Given the description of an element on the screen output the (x, y) to click on. 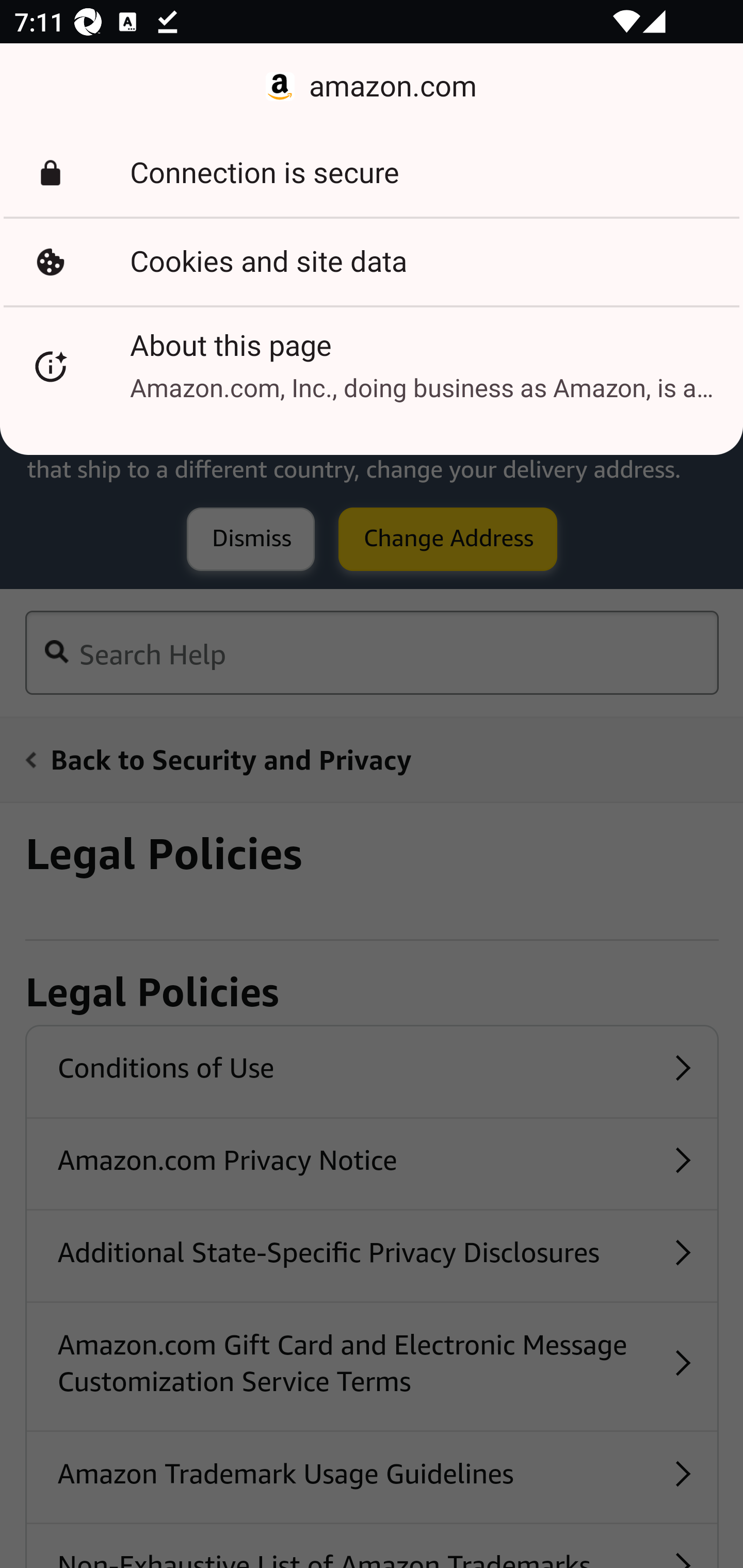
amazon.com (371, 86)
Connection is secure (371, 173)
Cookies and site data (371, 261)
